Given the description of an element on the screen output the (x, y) to click on. 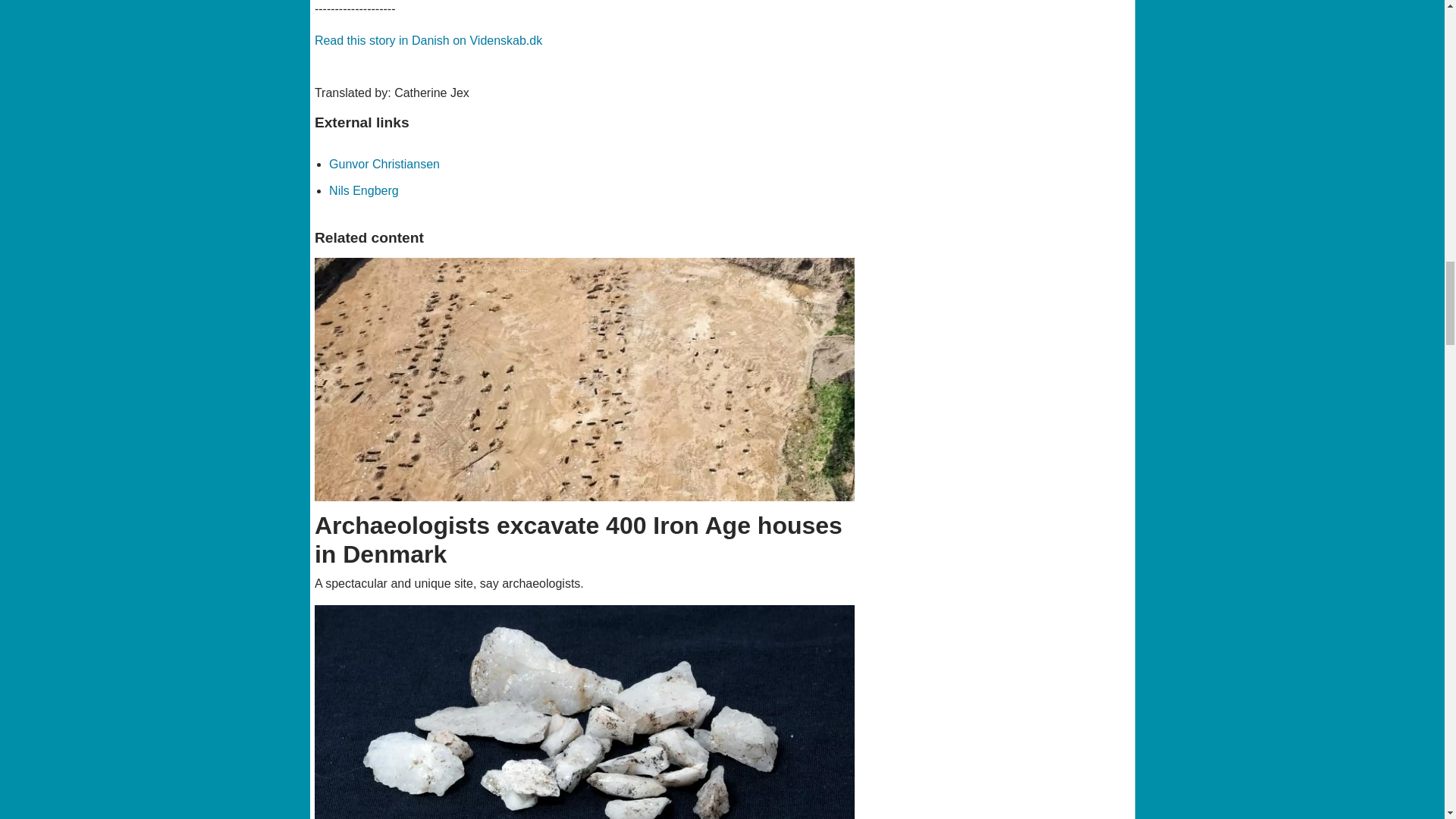
Archaeologists excavate 400 Iron Age houses in Denmark (585, 379)
Read this story in Danish on Videnskab.dk (427, 40)
Gunvor Christiansen (384, 164)
Nils Engberg (363, 190)
